Given the description of an element on the screen output the (x, y) to click on. 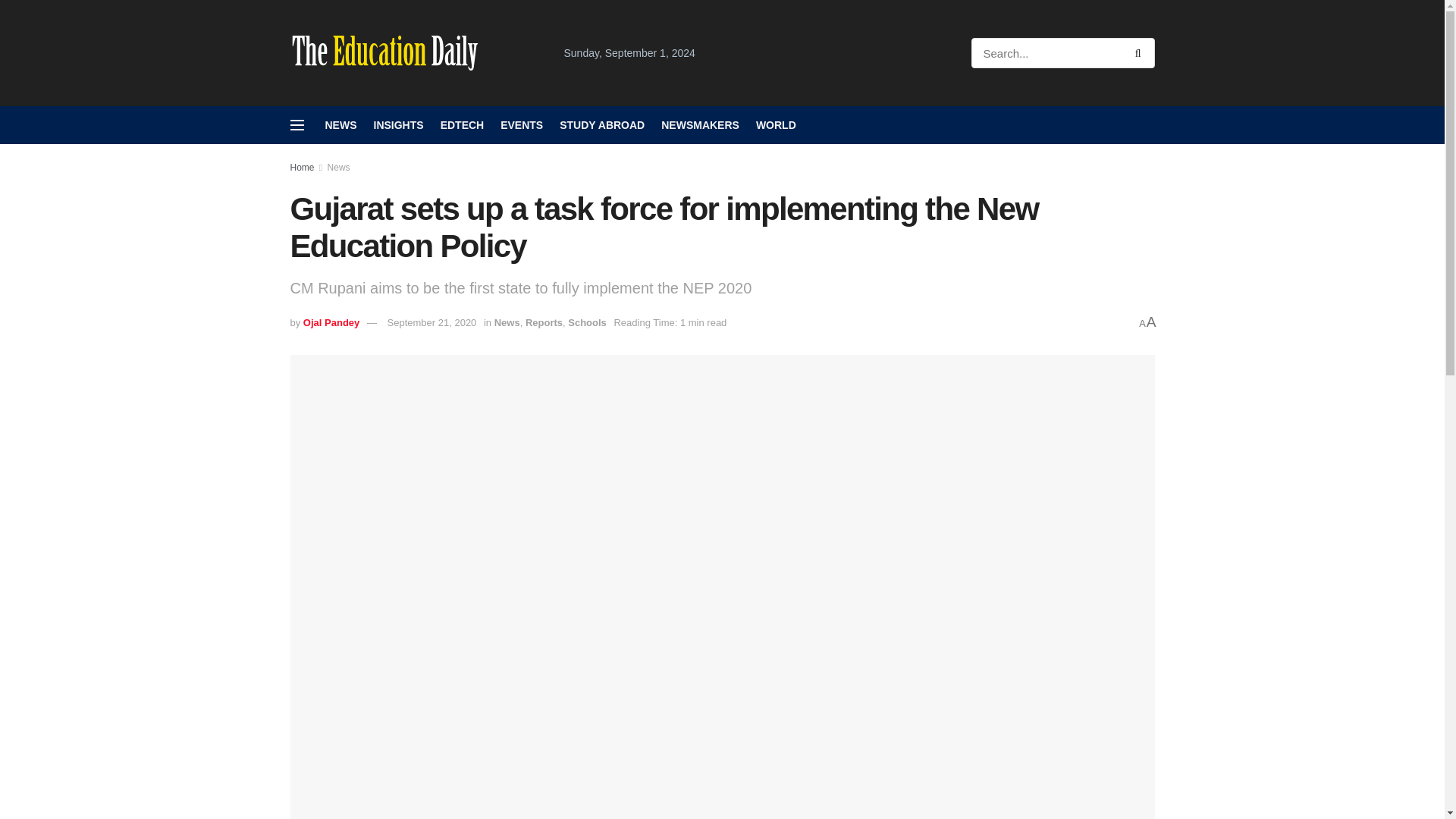
Home (301, 167)
NEWSMAKERS (700, 125)
News (507, 322)
EDTECH (462, 125)
STUDY ABROAD (602, 125)
News (338, 167)
September 21, 2020 (432, 322)
WORLD (775, 125)
Reports (543, 322)
Ojal Pandey (330, 322)
